Given the description of an element on the screen output the (x, y) to click on. 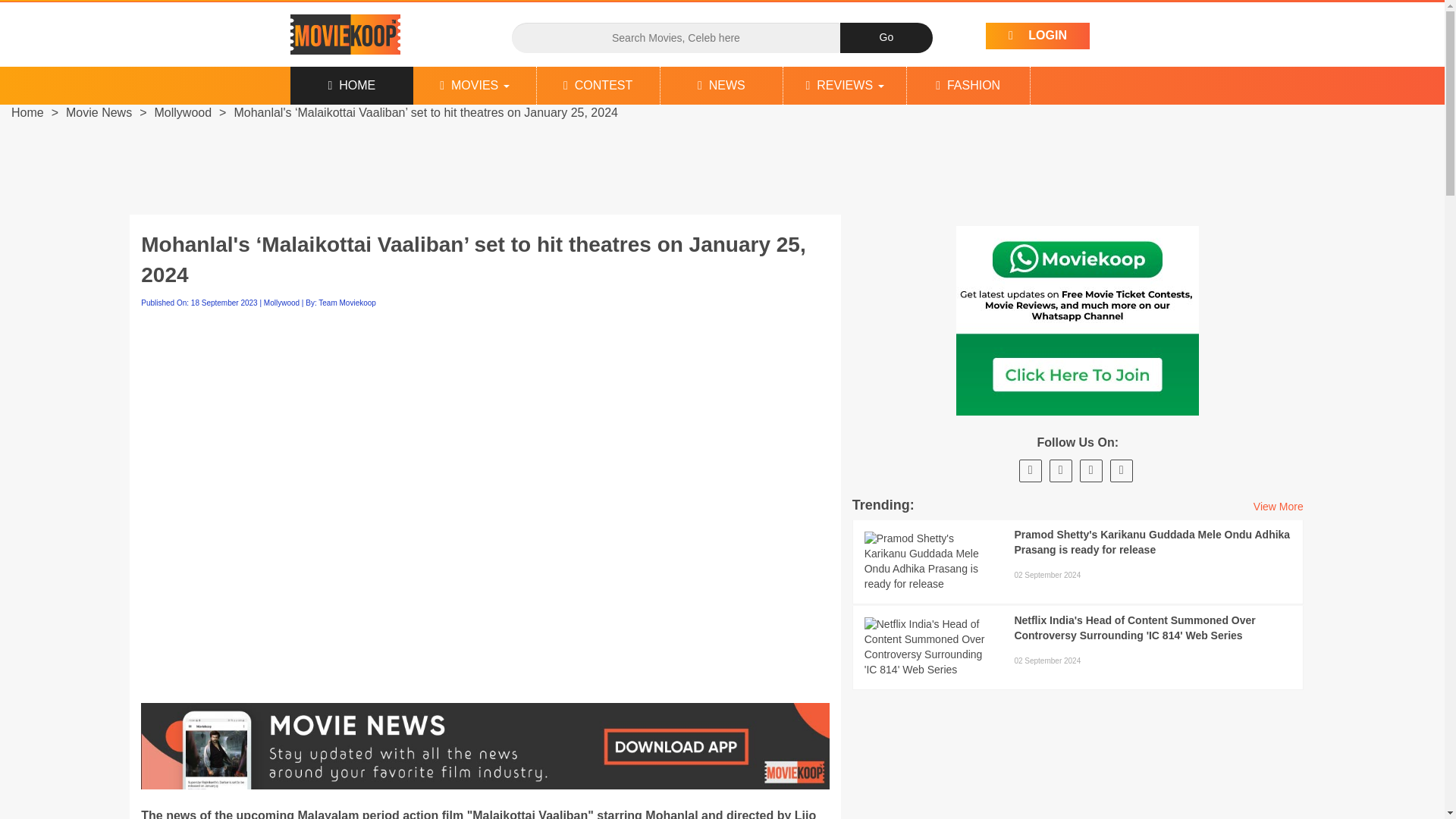
Movie News (98, 112)
Mollywood (281, 302)
Home (27, 112)
 LOGIN (1037, 35)
News (722, 85)
  HOME (351, 85)
  MOVIES (474, 85)
Go (886, 37)
Team Moviekoop (346, 302)
Posts by Team Moviekoop (346, 302)
